Given the description of an element on the screen output the (x, y) to click on. 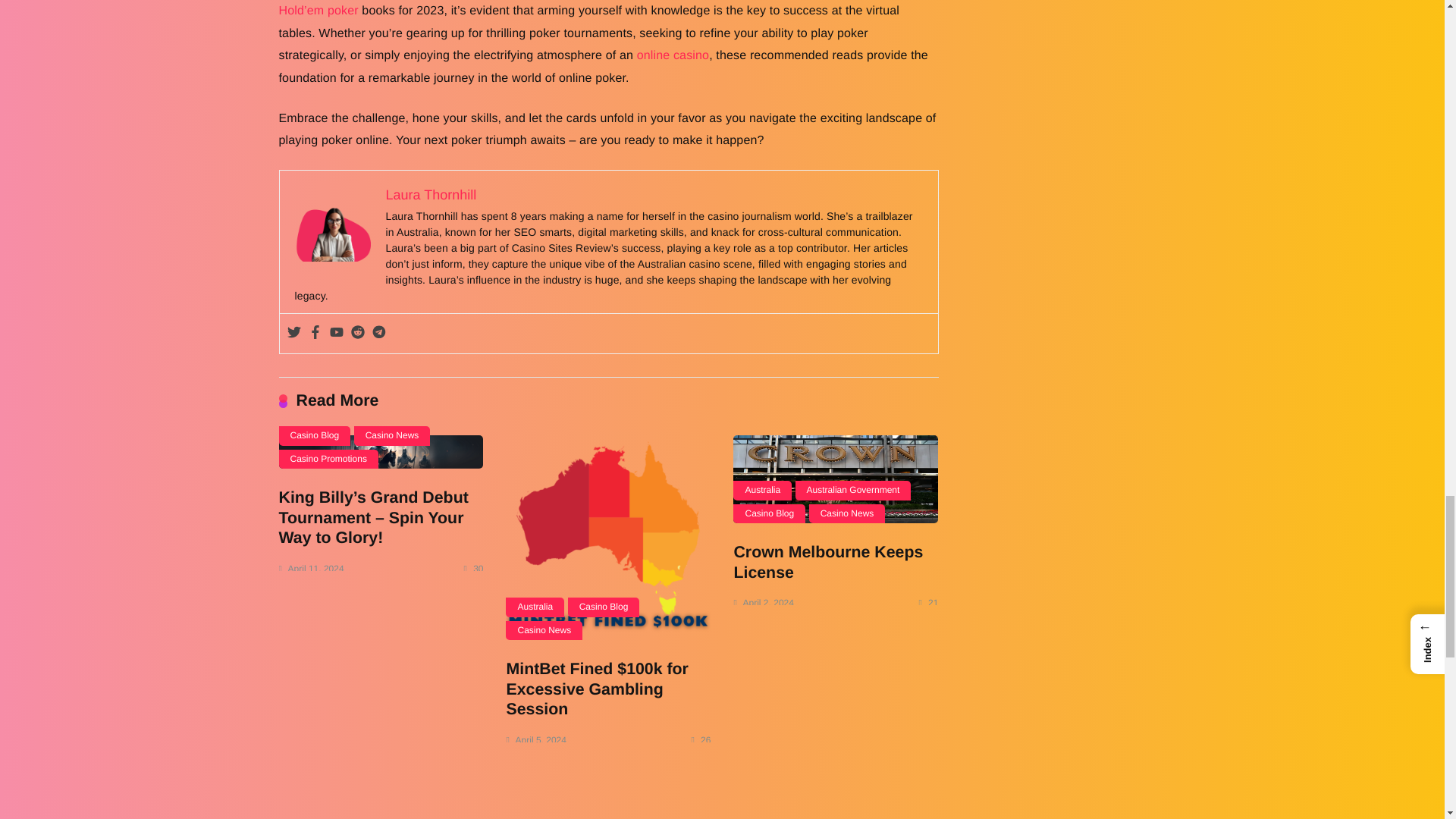
Crown Melbourne Keeps License (835, 478)
Crown Melbourne Keeps License (828, 561)
